Given the description of an element on the screen output the (x, y) to click on. 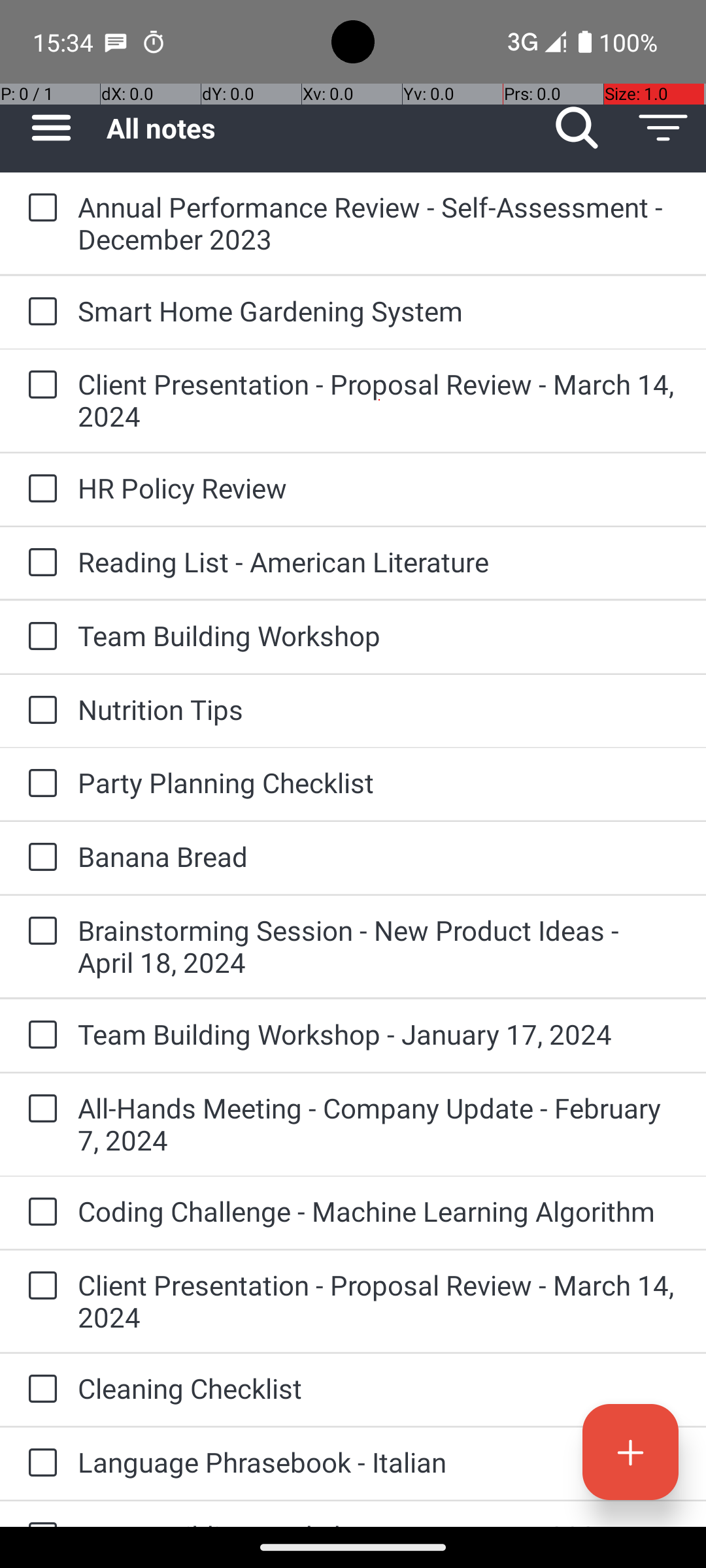
to-do: Smart Home Gardening System Element type: android.widget.CheckBox (38, 312)
Smart Home Gardening System Element type: android.widget.TextView (378, 310)
to-do: Client Presentation - Proposal Review - March 14, 2024 Element type: android.widget.CheckBox (38, 385)
Client Presentation - Proposal Review - March 14, 2024 Element type: android.widget.TextView (378, 399)
to-do: HR Policy Review Element type: android.widget.CheckBox (38, 489)
HR Policy Review Element type: android.widget.TextView (378, 487)
to-do: Reading List - American Literature Element type: android.widget.CheckBox (38, 563)
Reading List - American Literature Element type: android.widget.TextView (378, 561)
to-do: Team Building Workshop Element type: android.widget.CheckBox (38, 637)
Team Building Workshop Element type: android.widget.TextView (378, 634)
to-do: Party Planning Checklist Element type: android.widget.CheckBox (38, 783)
Party Planning Checklist Element type: android.widget.TextView (378, 781)
to-do: Banana Bread Element type: android.widget.CheckBox (38, 857)
Banana Bread Element type: android.widget.TextView (378, 855)
to-do: Brainstorming Session - New Product Ideas - April 18, 2024 Element type: android.widget.CheckBox (38, 931)
Brainstorming Session - New Product Ideas - April 18, 2024 Element type: android.widget.TextView (378, 945)
to-do: Team Building Workshop - January 17, 2024 Element type: android.widget.CheckBox (38, 1035)
Team Building Workshop - January 17, 2024 Element type: android.widget.TextView (378, 1033)
to-do: All-Hands Meeting - Company Update - February 7, 2024 Element type: android.widget.CheckBox (38, 1109)
All-Hands Meeting - Company Update - February 7, 2024 Element type: android.widget.TextView (378, 1123)
to-do: Cleaning Checklist Element type: android.widget.CheckBox (38, 1389)
Cleaning Checklist Element type: android.widget.TextView (378, 1387)
to-do: Language Phrasebook - Italian Element type: android.widget.CheckBox (38, 1463)
Language Phrasebook - Italian Element type: android.widget.TextView (378, 1461)
